Given the description of an element on the screen output the (x, y) to click on. 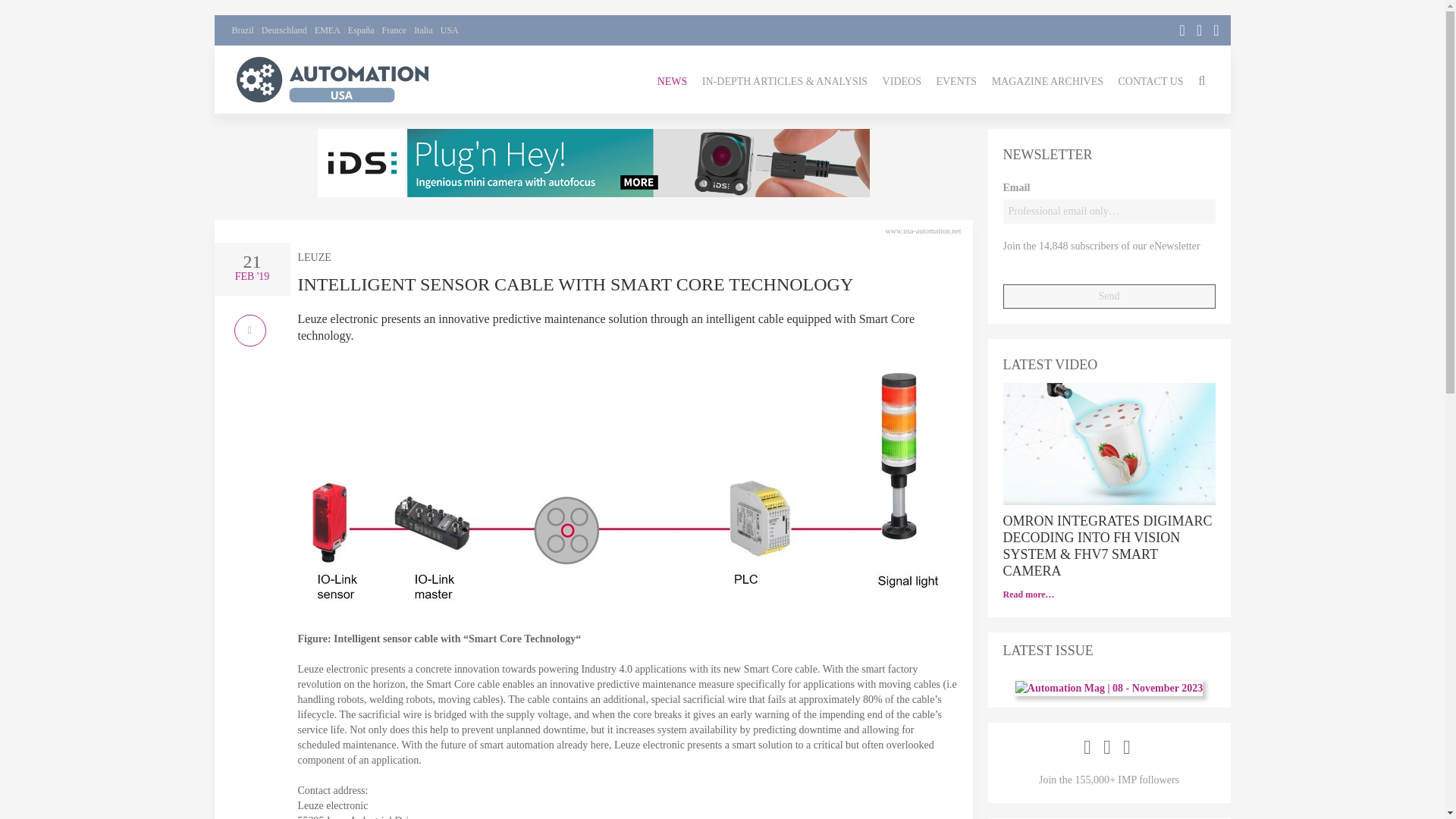
Italia (422, 29)
VIDEOS (901, 79)
MAGAZINE ARCHIVES (1047, 79)
NEWS (672, 79)
CONTACT US (1150, 79)
Deutschland (284, 29)
USA (449, 29)
Send (1108, 296)
Brazil (242, 29)
EVENTS (956, 79)
EMEA (327, 29)
France (393, 29)
